Given the description of an element on the screen output the (x, y) to click on. 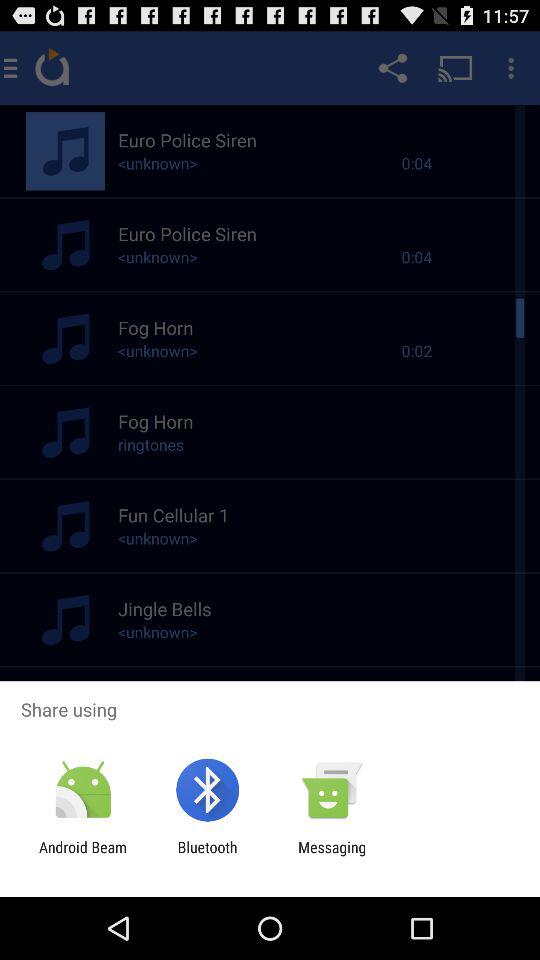
press item next to messaging (207, 856)
